Given the description of an element on the screen output the (x, y) to click on. 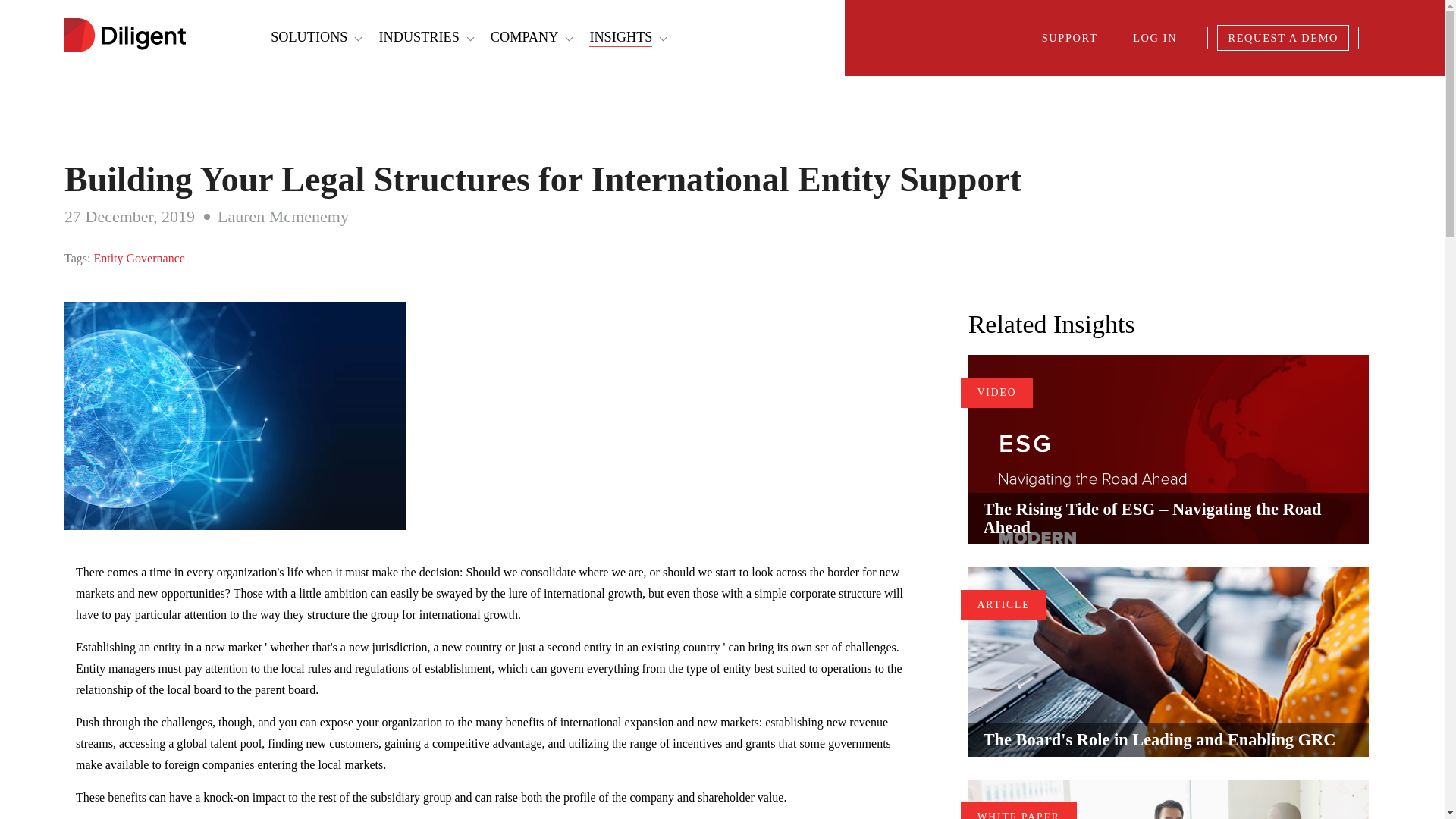
company (524, 37)
industries (418, 37)
SOLUTIONS (308, 37)
INDUSTRIES (418, 37)
HeaderLogo (125, 37)
Insights (620, 37)
solutions (308, 37)
